Given the description of an element on the screen output the (x, y) to click on. 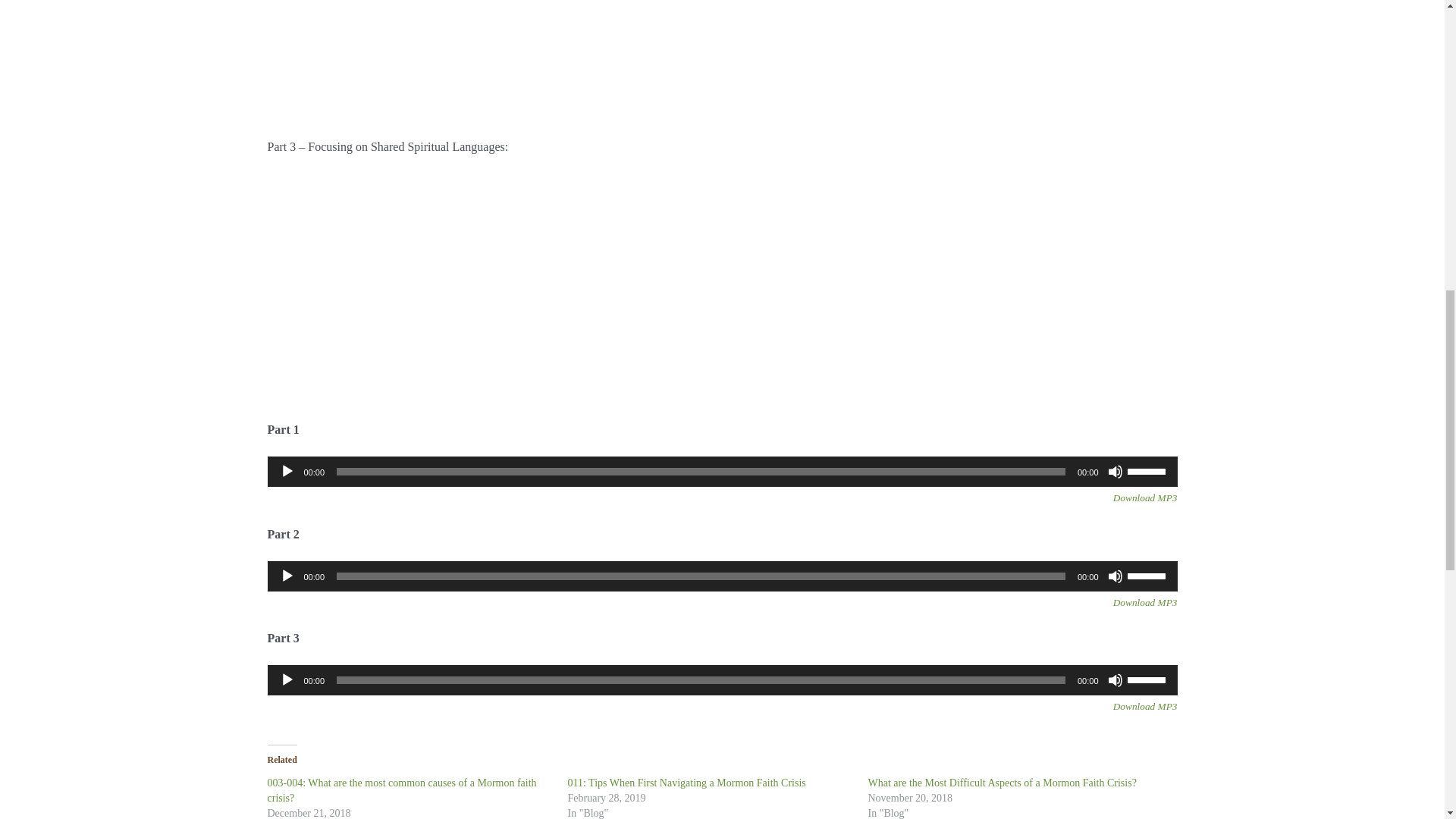
Play (286, 471)
Mute (1114, 471)
Play (286, 679)
Download MP3 (1145, 497)
011: Tips When First Navigating a Mormon Faith Crisis (686, 782)
Mute (1114, 679)
Play (286, 575)
Mute (1114, 575)
